Given the description of an element on the screen output the (x, y) to click on. 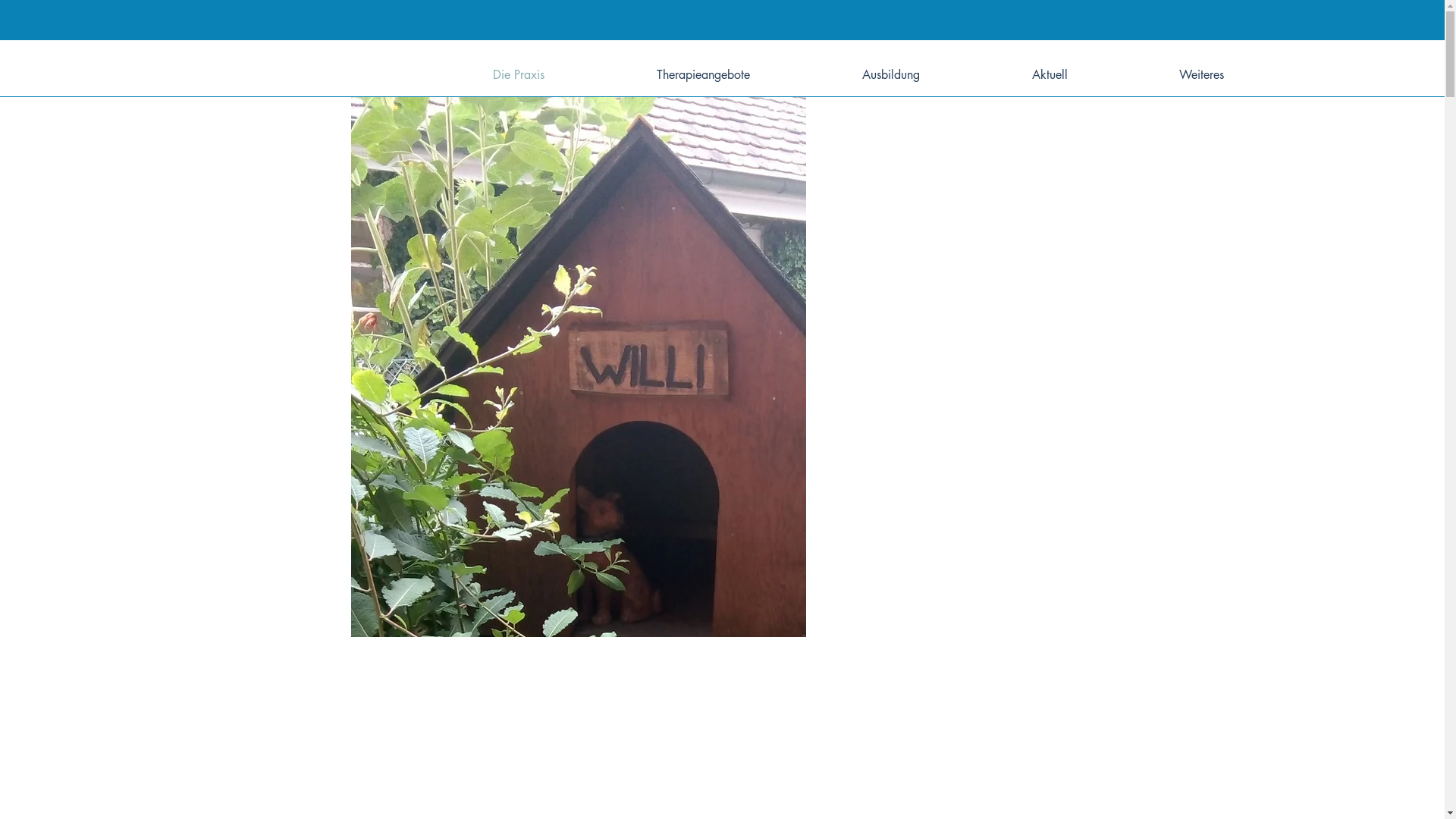
Therapieangebote Element type: text (703, 74)
Ausbildung Element type: text (890, 74)
Aktuell Element type: text (1049, 74)
Die Praxis Element type: text (518, 74)
Weiteres Element type: text (1201, 74)
